Given the description of an element on the screen output the (x, y) to click on. 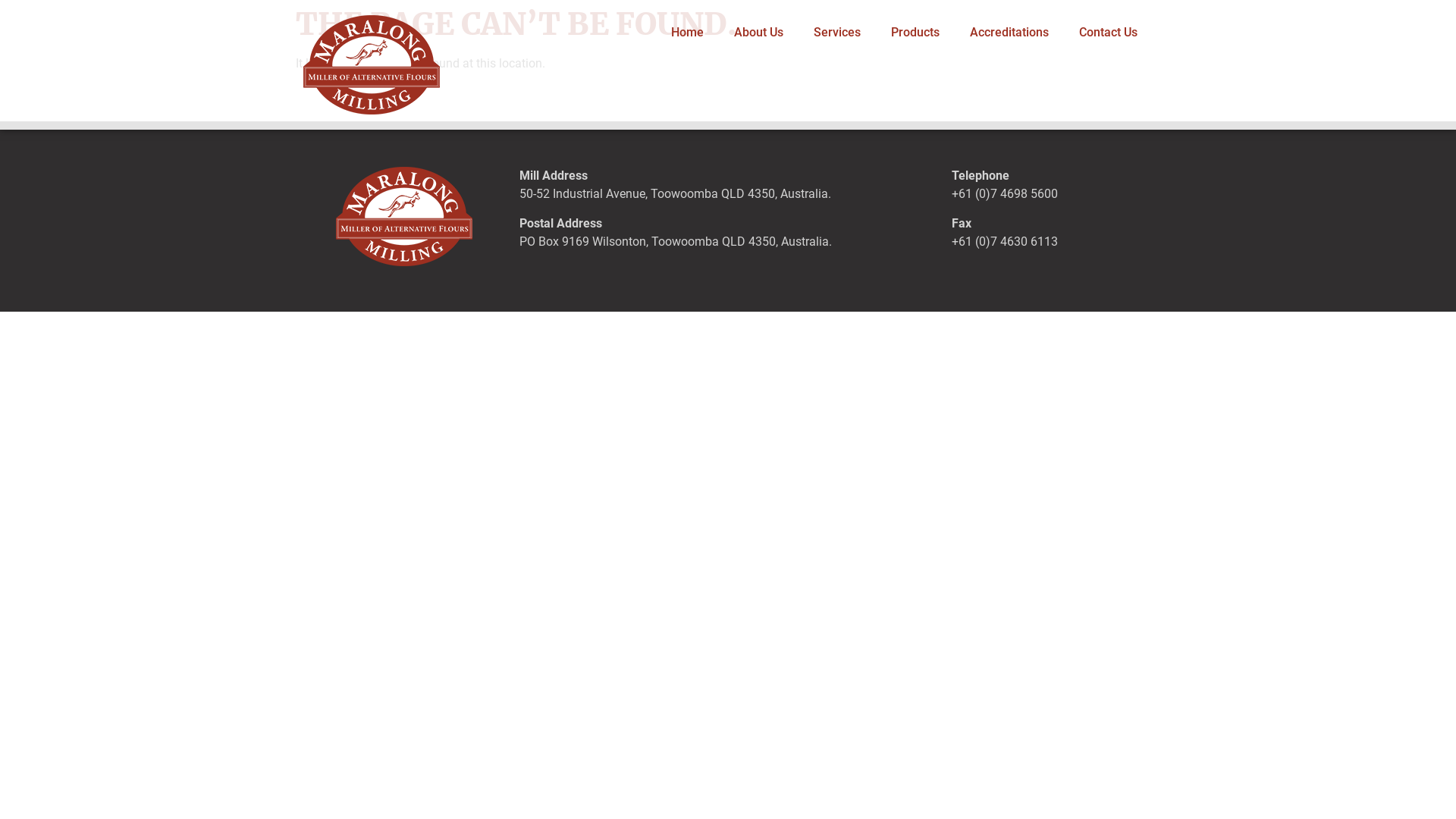
Accreditations Element type: text (1008, 32)
Home Element type: text (686, 32)
Contact Us Element type: text (1107, 32)
Services Element type: text (836, 32)
About Us Element type: text (758, 32)
Products Element type: text (914, 32)
